Given the description of an element on the screen output the (x, y) to click on. 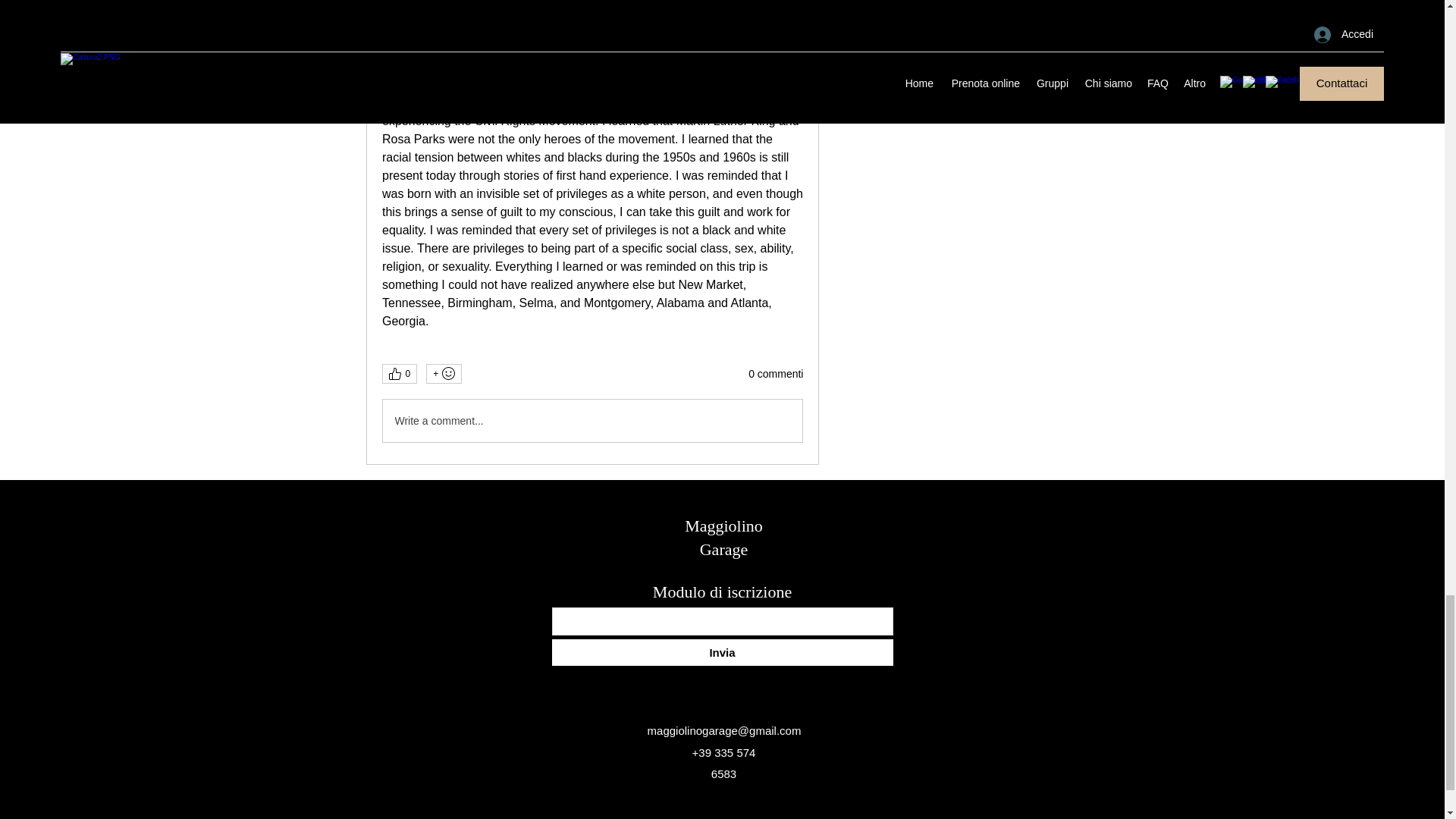
Write a comment... (591, 420)
0 commenti (775, 374)
